Given the description of an element on the screen output the (x, y) to click on. 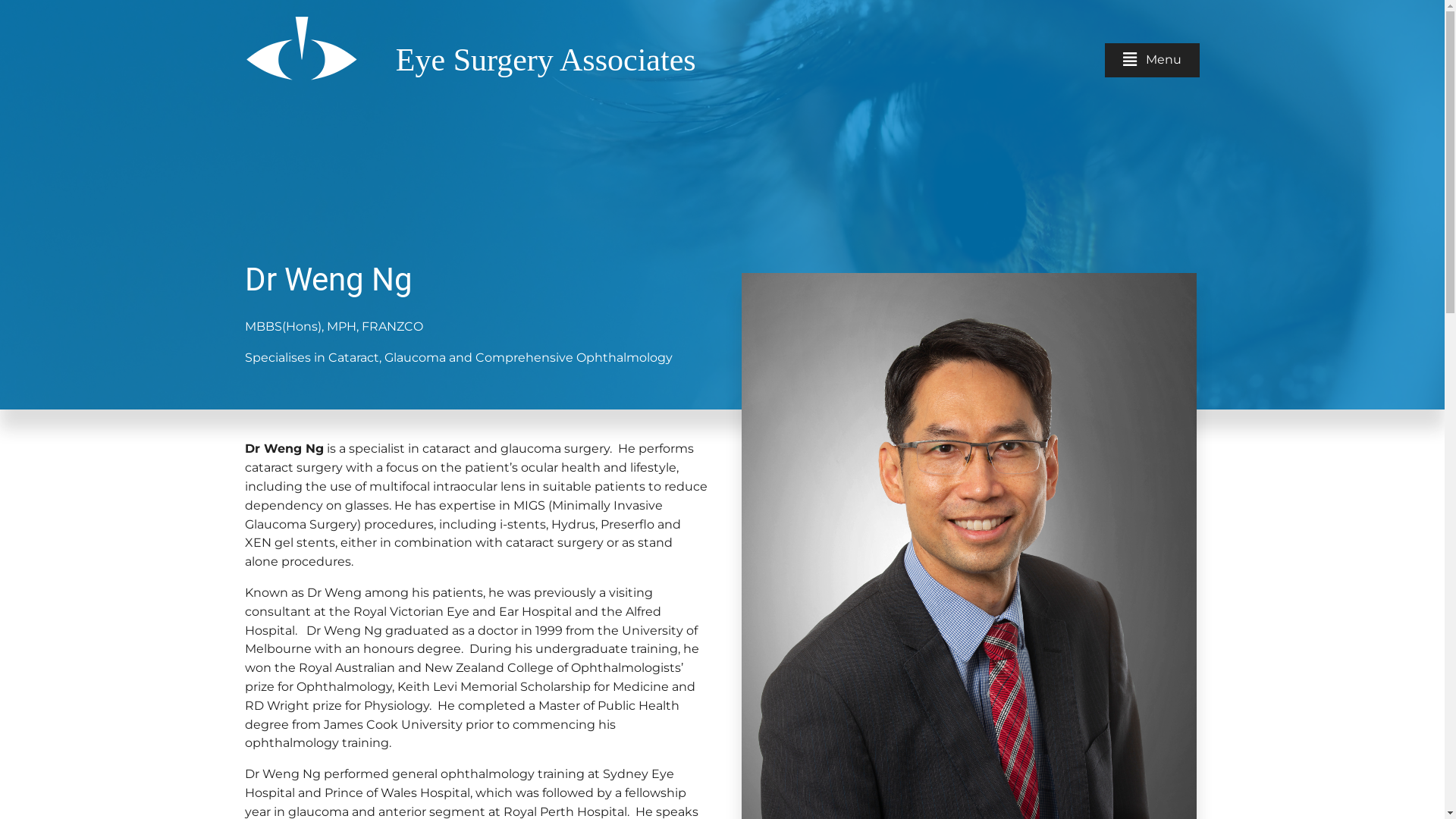
Menu Element type: text (1151, 60)
eyesurgery-logo-cropped Element type: hover (300, 44)
Eye Surgery Associates Element type: text (545, 59)
